Given the description of an element on the screen output the (x, y) to click on. 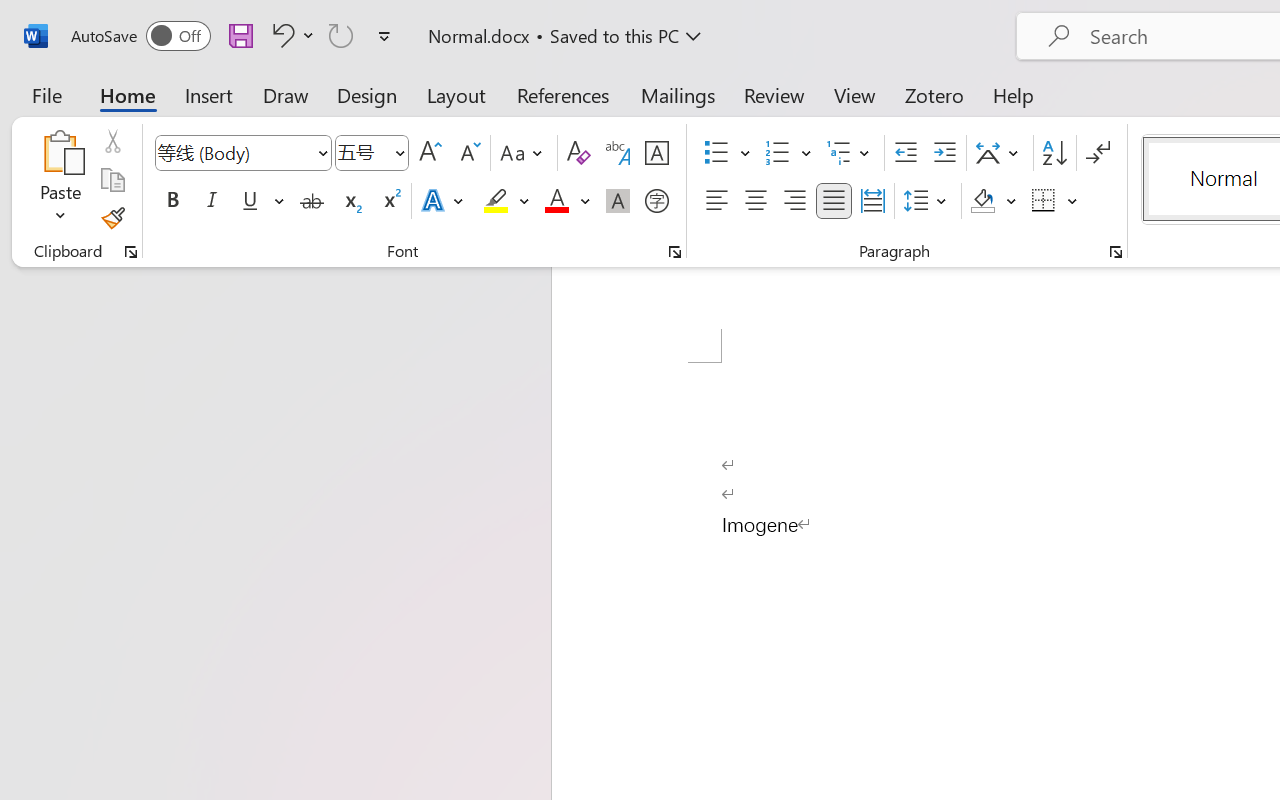
Superscript (390, 201)
Bold (172, 201)
Help (1013, 94)
Line and Paragraph Spacing (927, 201)
Text Effects and Typography (444, 201)
Align Left (716, 201)
Grow Font (430, 153)
Character Shading (618, 201)
